Given the description of an element on the screen output the (x, y) to click on. 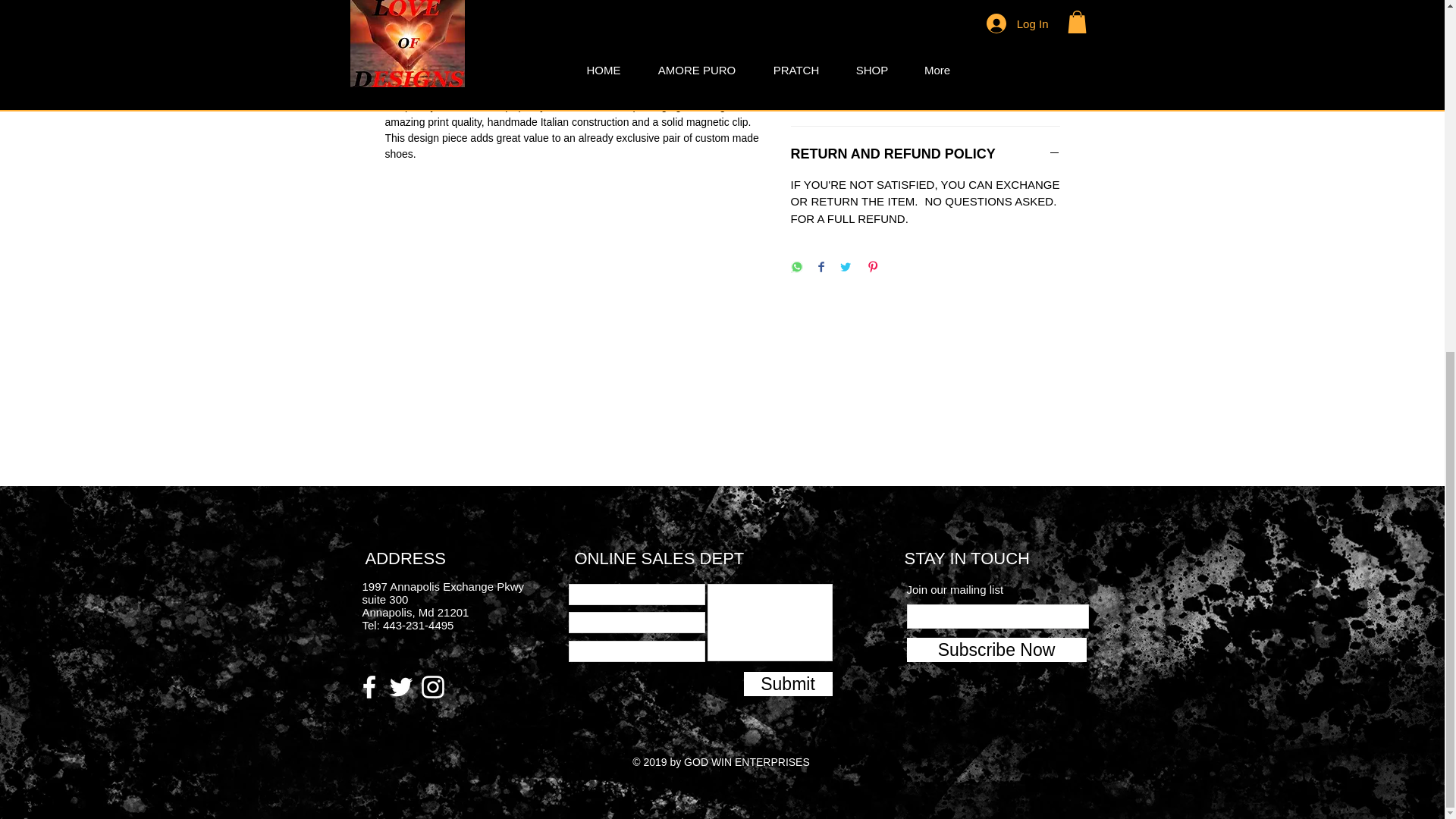
RETURN AND REFUND POLICY (924, 153)
